Given the description of an element on the screen output the (x, y) to click on. 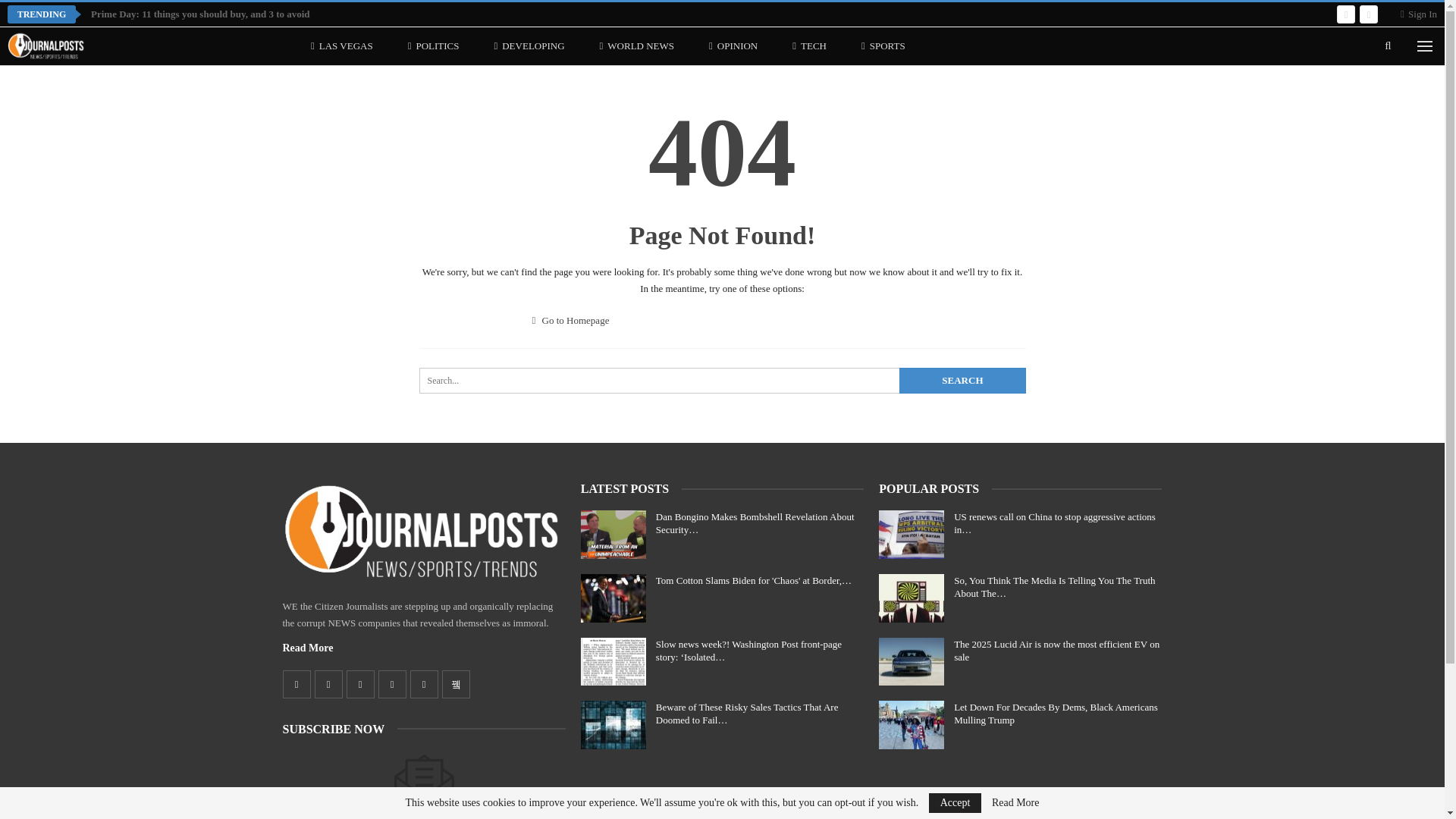
Search (962, 380)
Prime Day: 11 things you should buy, and 3 to avoid (200, 13)
DEVELOPING (528, 46)
WORLD NEWS (637, 46)
Let Down For Decades By Dems, Black Americans Mulling Trump (911, 725)
OPINION (732, 46)
SPORTS (883, 46)
TECH (809, 46)
POLITICS (433, 46)
Search (962, 380)
Search for: (722, 380)
Search (962, 380)
Read More (307, 647)
Sign In (1418, 13)
